Given the description of an element on the screen output the (x, y) to click on. 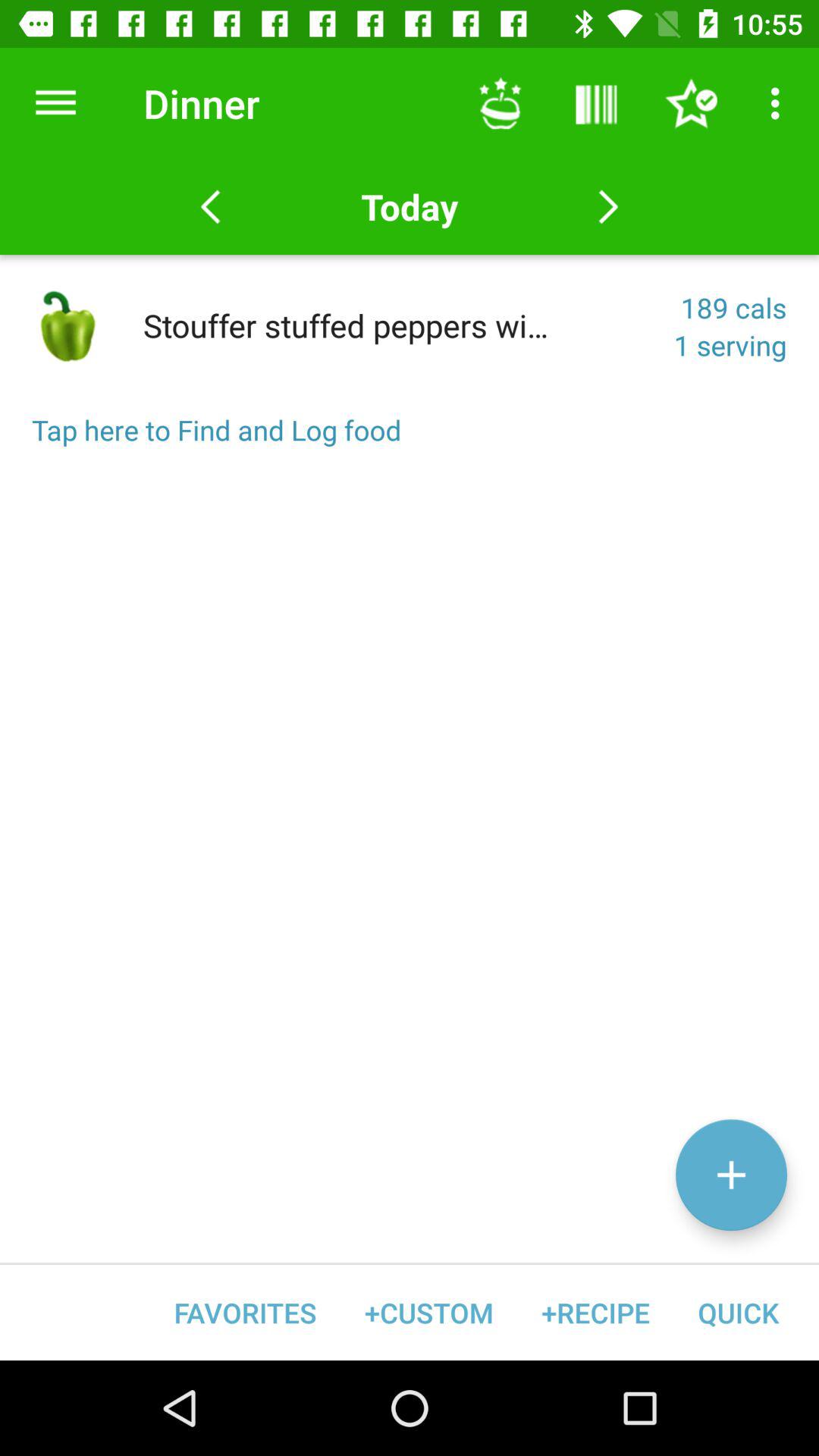
next item (608, 206)
